Given the description of an element on the screen output the (x, y) to click on. 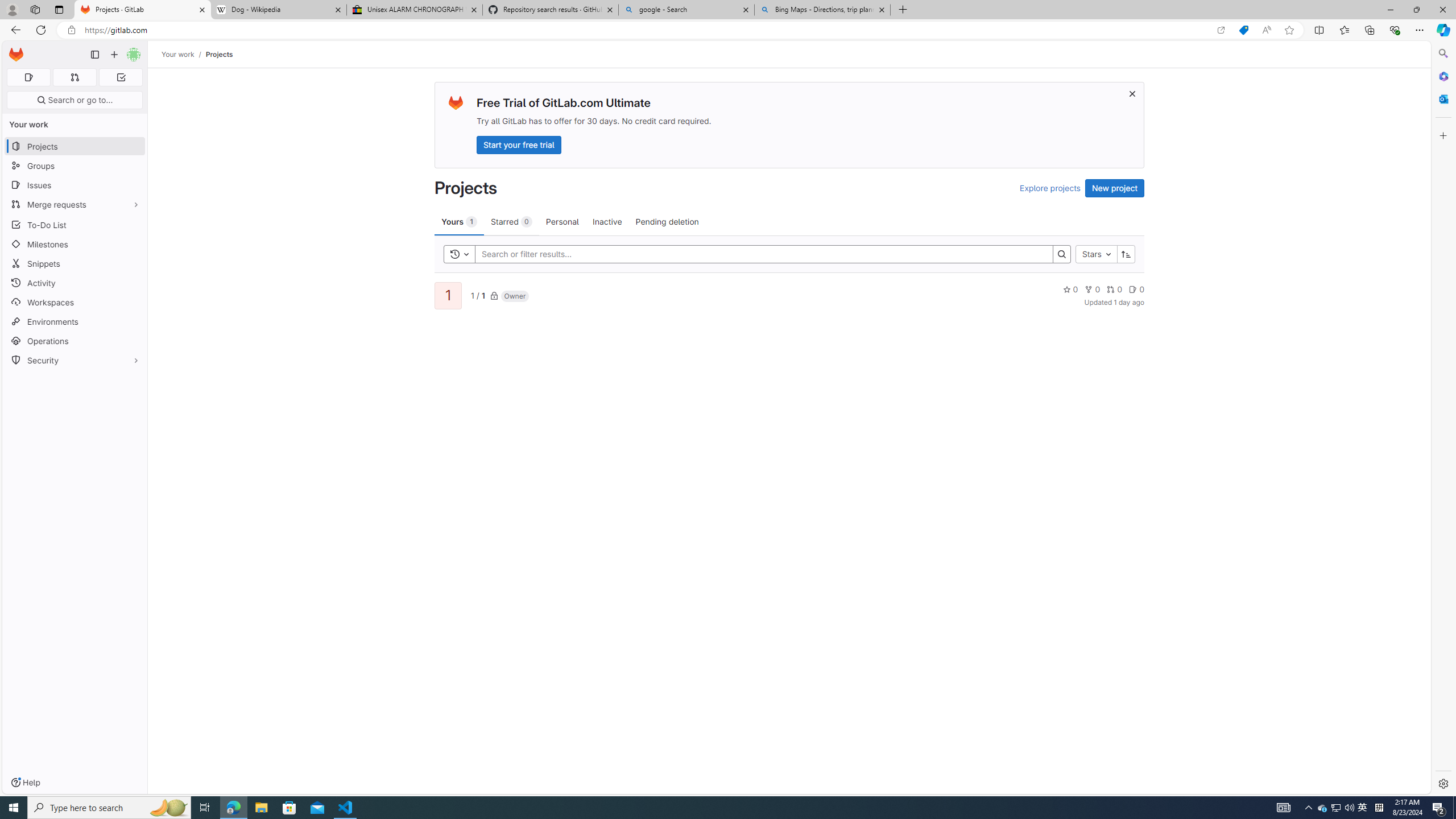
Class: s14 gl-mr-2 (1132, 289)
Snippets (74, 262)
Starred 0 (510, 221)
To-Do list 0 (120, 76)
Pending deletion (667, 221)
11 / 1Owner0000Updated 1 day ago (788, 295)
Environments (74, 321)
